Given the description of an element on the screen output the (x, y) to click on. 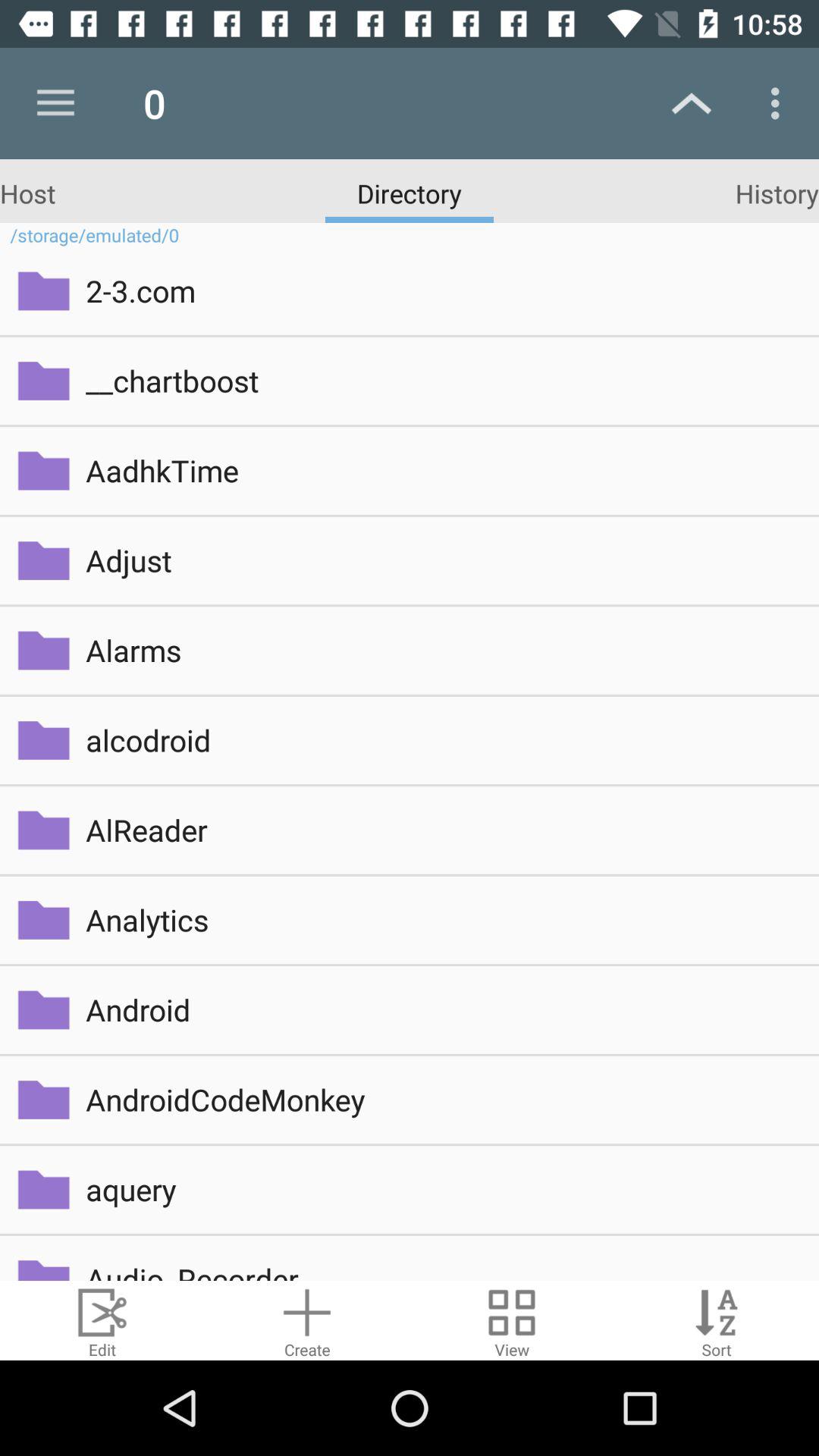
press icon above the /storage/emulated/0 icon (777, 193)
